Given the description of an element on the screen output the (x, y) to click on. 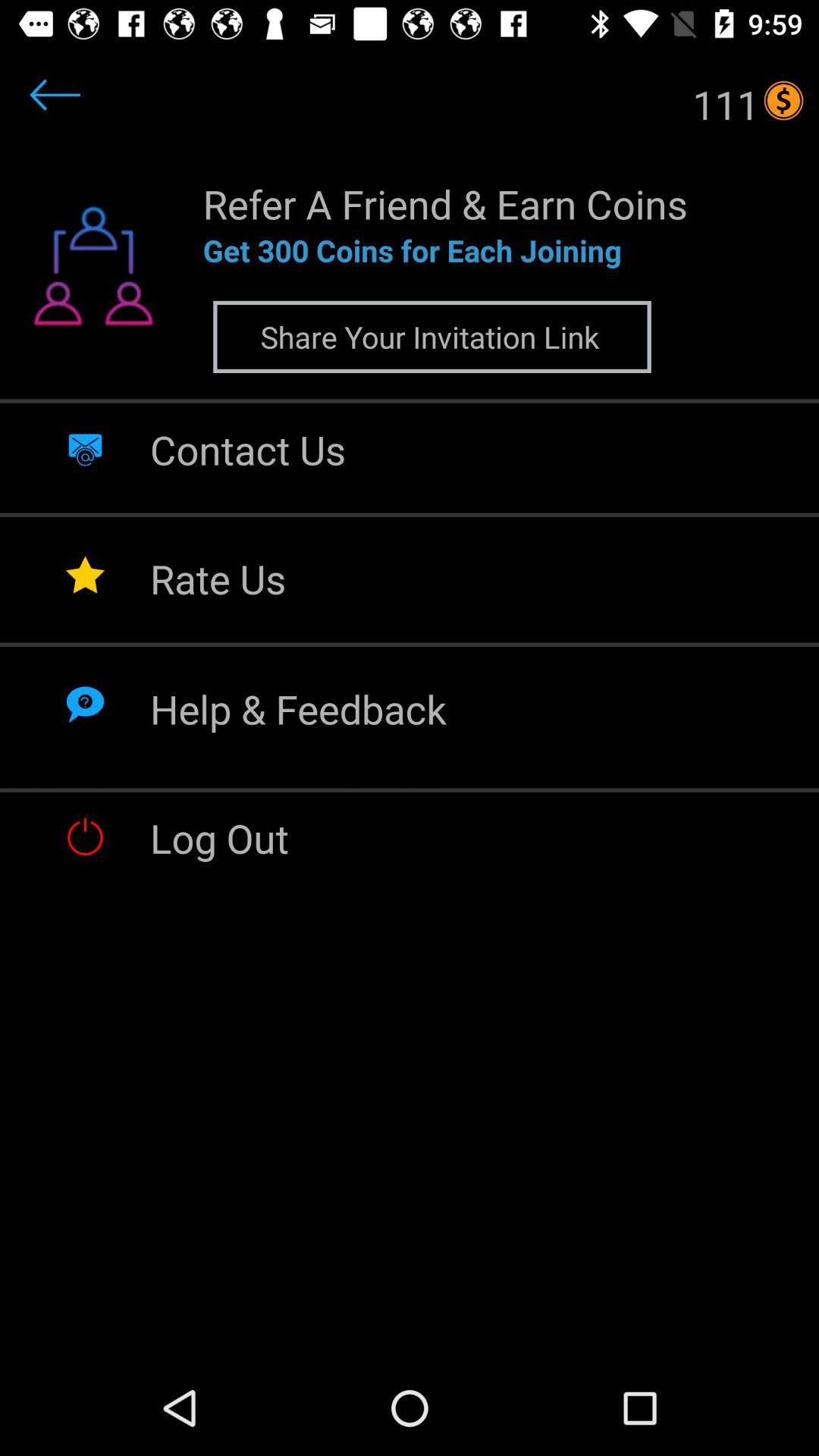
click on text  right to star icon (217, 578)
click on the back page icon (85, 114)
click on text below rate us (297, 708)
click on the left arrow at top left (55, 95)
click on the icon which is beside log out (85, 835)
click on image left to refer a friend  earn coins (93, 275)
click on the message icon under the share your invitation link (85, 446)
